Given the description of an element on the screen output the (x, y) to click on. 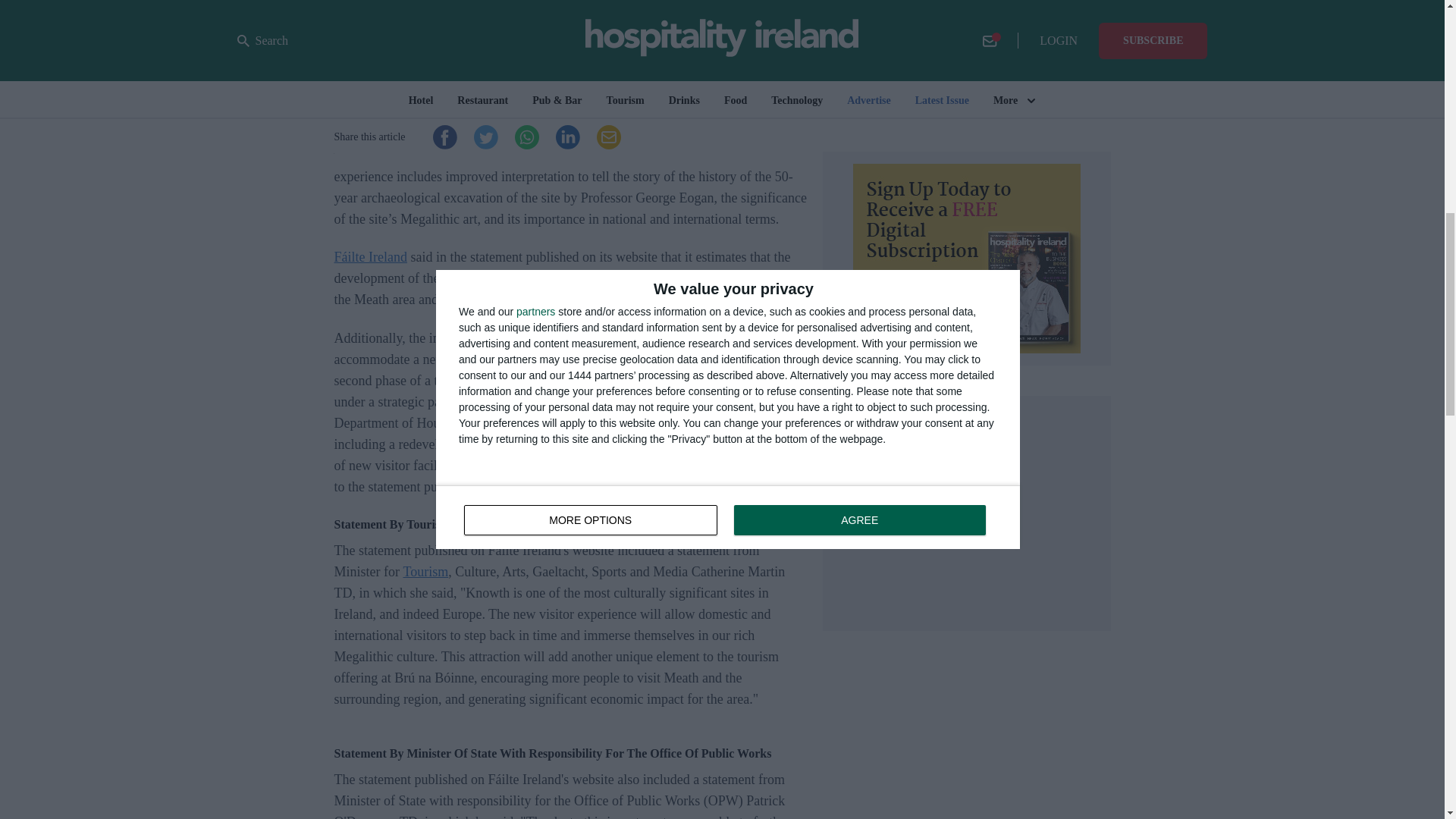
Tourism (425, 571)
